Given the description of an element on the screen output the (x, y) to click on. 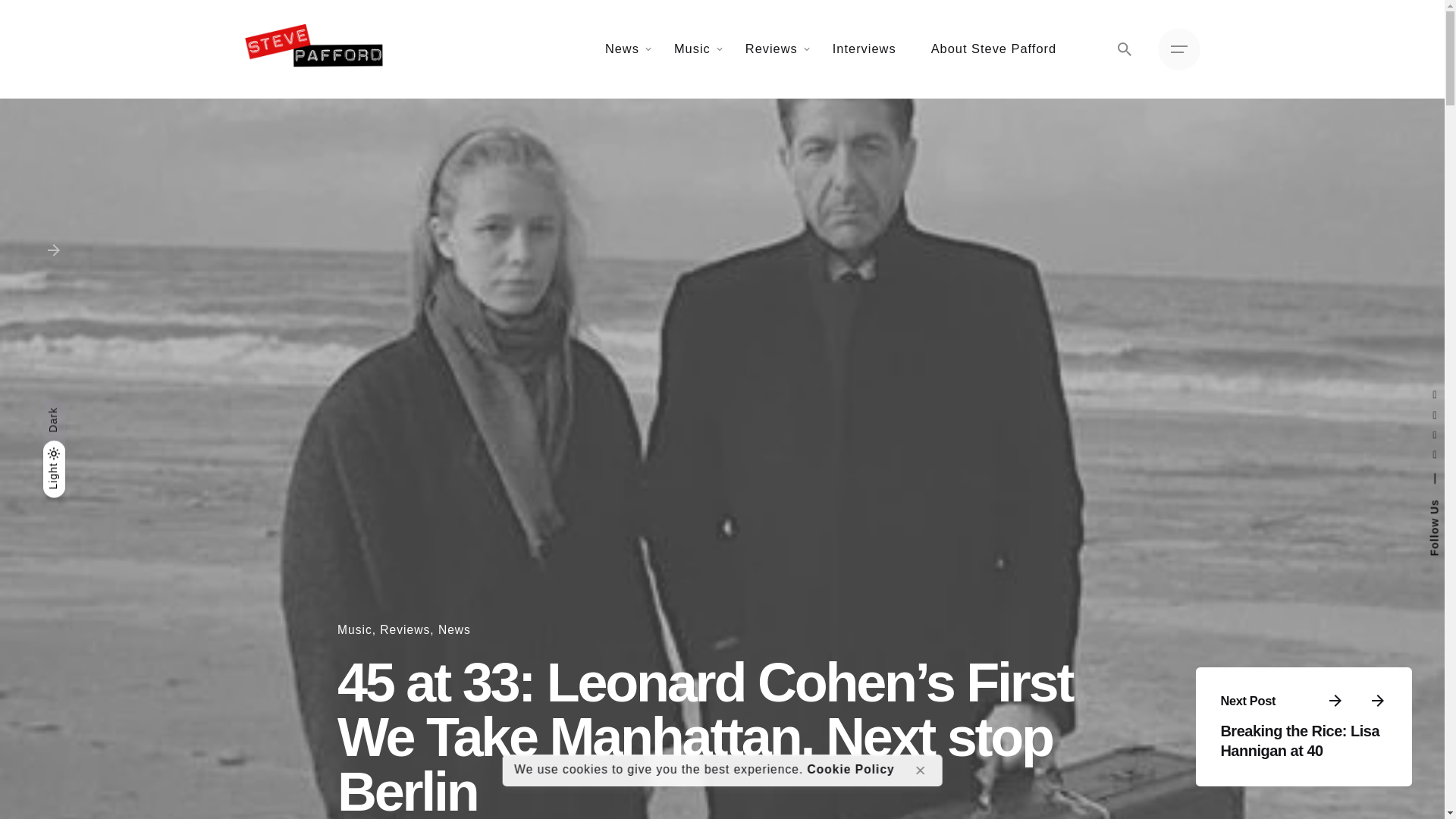
About Steve Pafford (994, 49)
Interviews (864, 49)
News (622, 49)
Reviews (771, 49)
Music (692, 49)
